Given the description of an element on the screen output the (x, y) to click on. 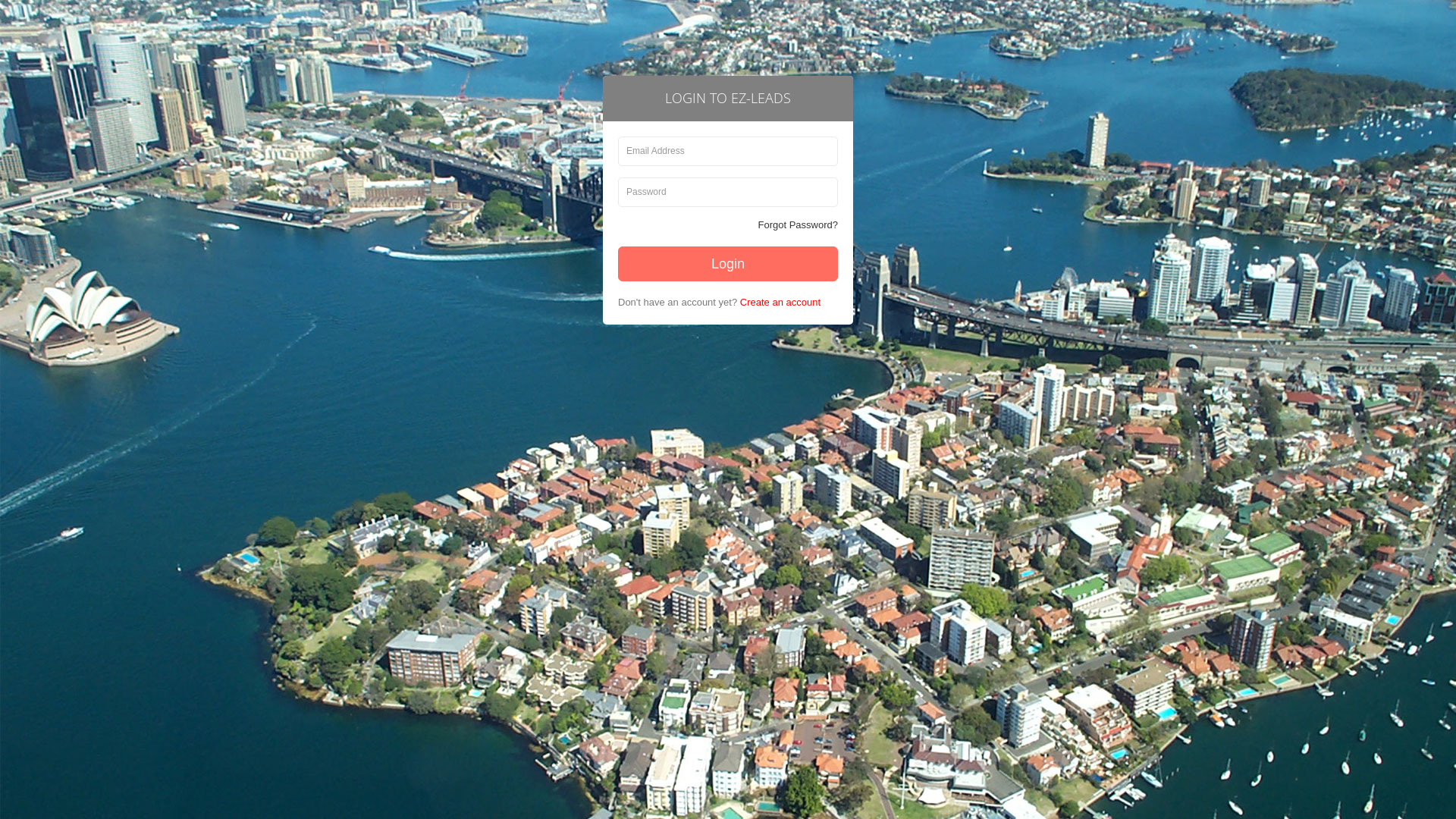
Create an account Element type: text (780, 301)
Login Element type: text (727, 263)
Forgot Password? Element type: text (798, 225)
